Given the description of an element on the screen output the (x, y) to click on. 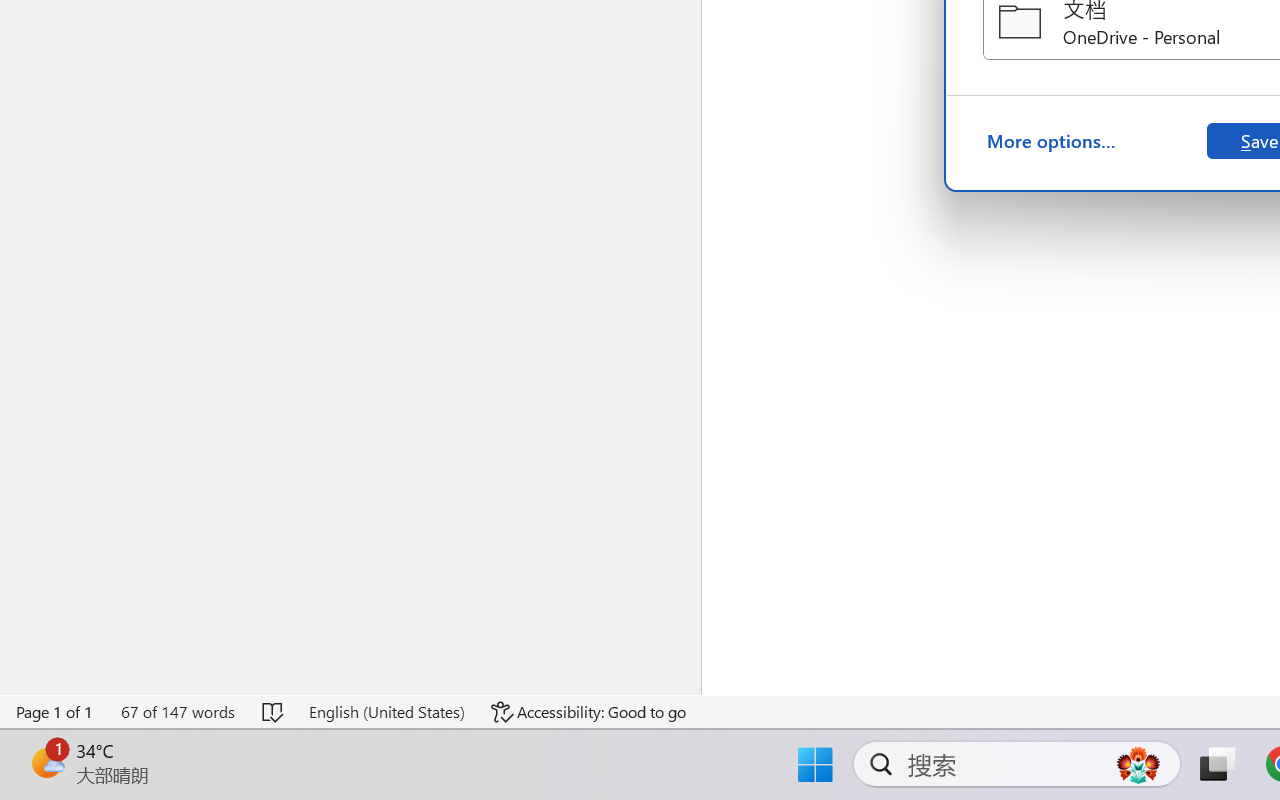
Page Number Page 1 of 1 (55, 712)
